Given the description of an element on the screen output the (x, y) to click on. 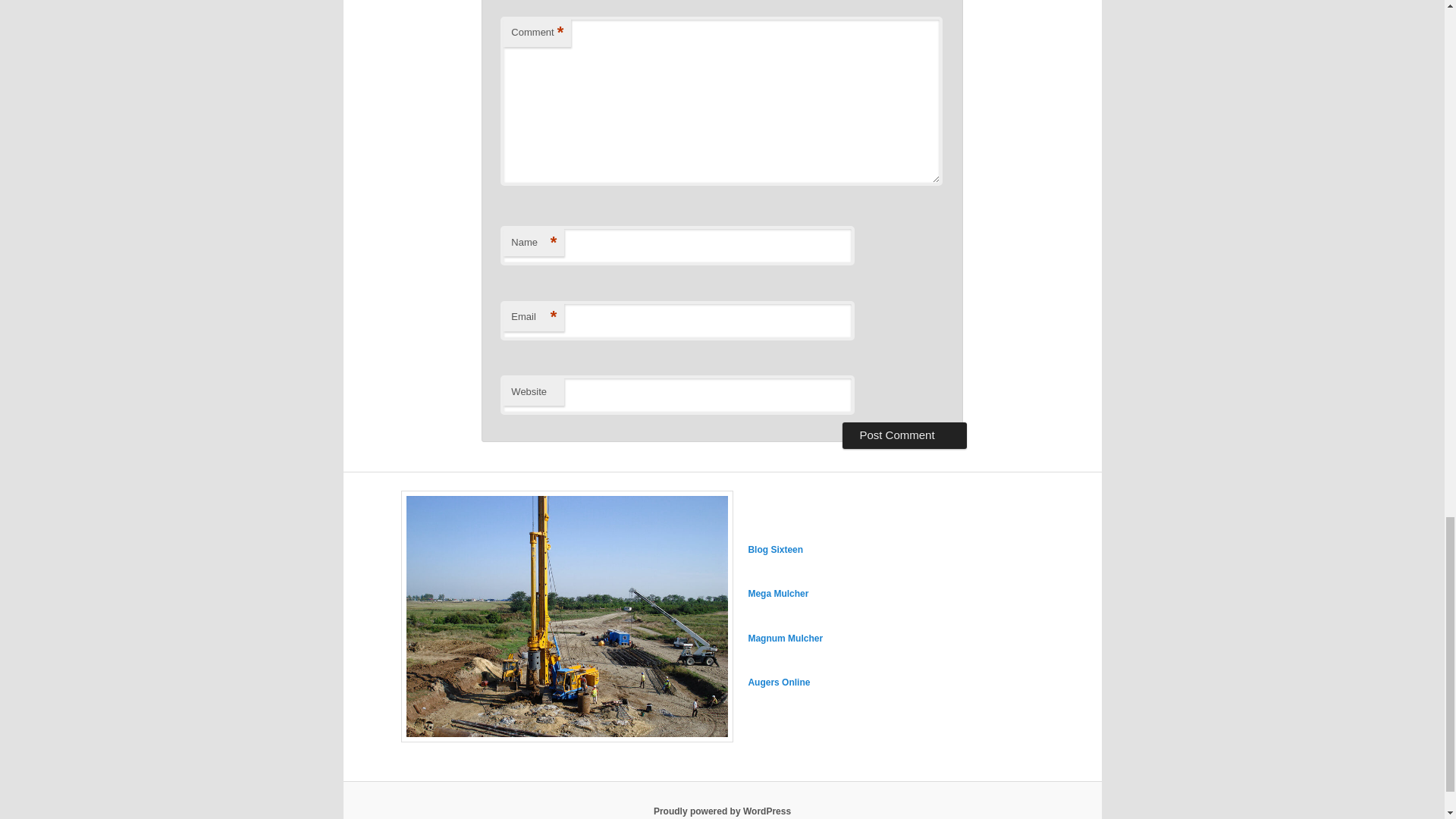
Semantic Personal Publishing Platform (721, 810)
Augers Online (778, 682)
Blog Sixteen (775, 549)
Mega Mulcher (778, 593)
Post Comment (904, 434)
Proudly powered by WordPress (721, 810)
Post Comment (904, 434)
Magnum Mulcher (785, 638)
